Given the description of an element on the screen output the (x, y) to click on. 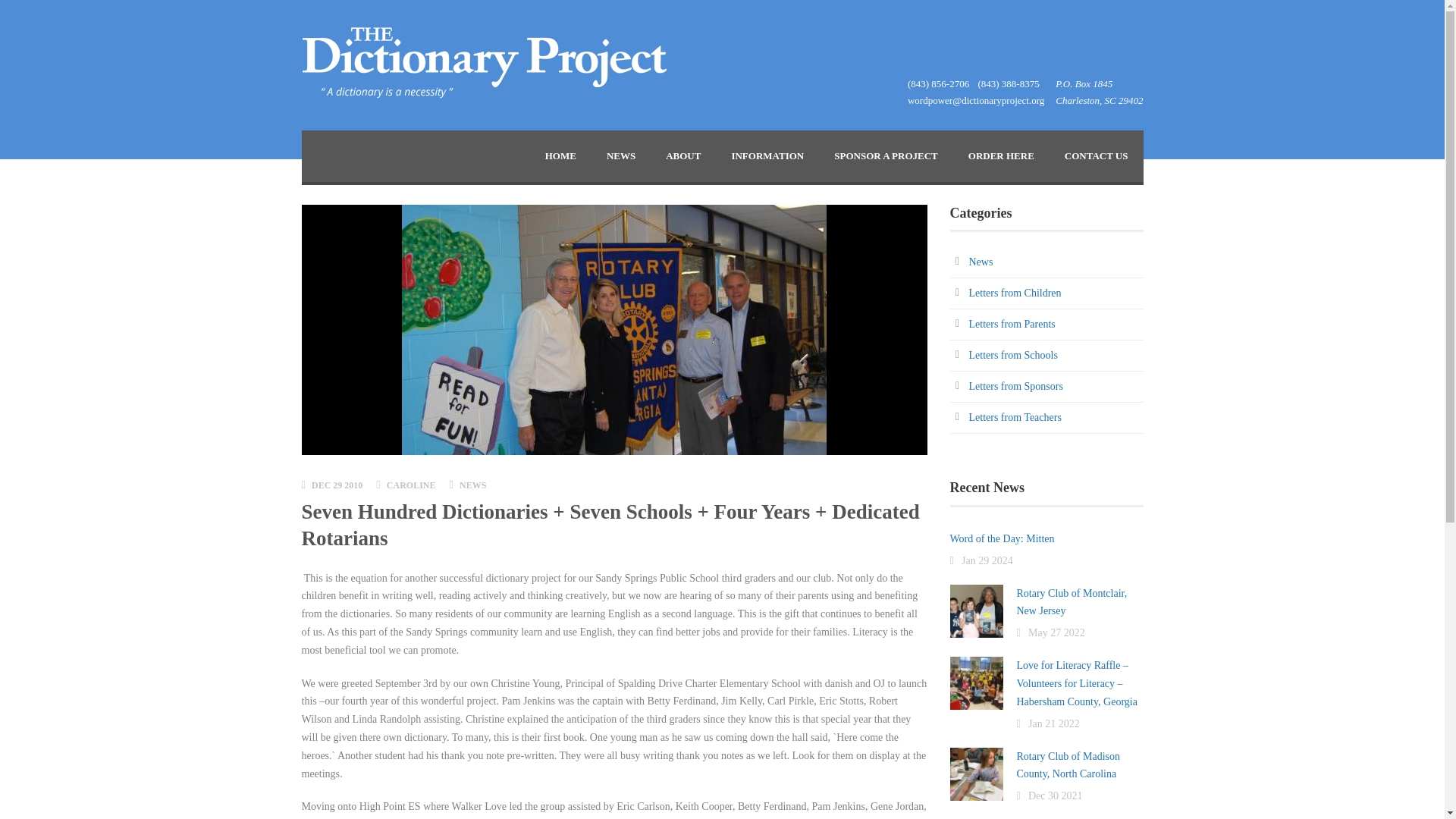
ABOUT (683, 155)
INFORMATION (767, 155)
HOME (560, 155)
Posts by Caroline (411, 484)
NEWS (620, 155)
